Given the description of an element on the screen output the (x, y) to click on. 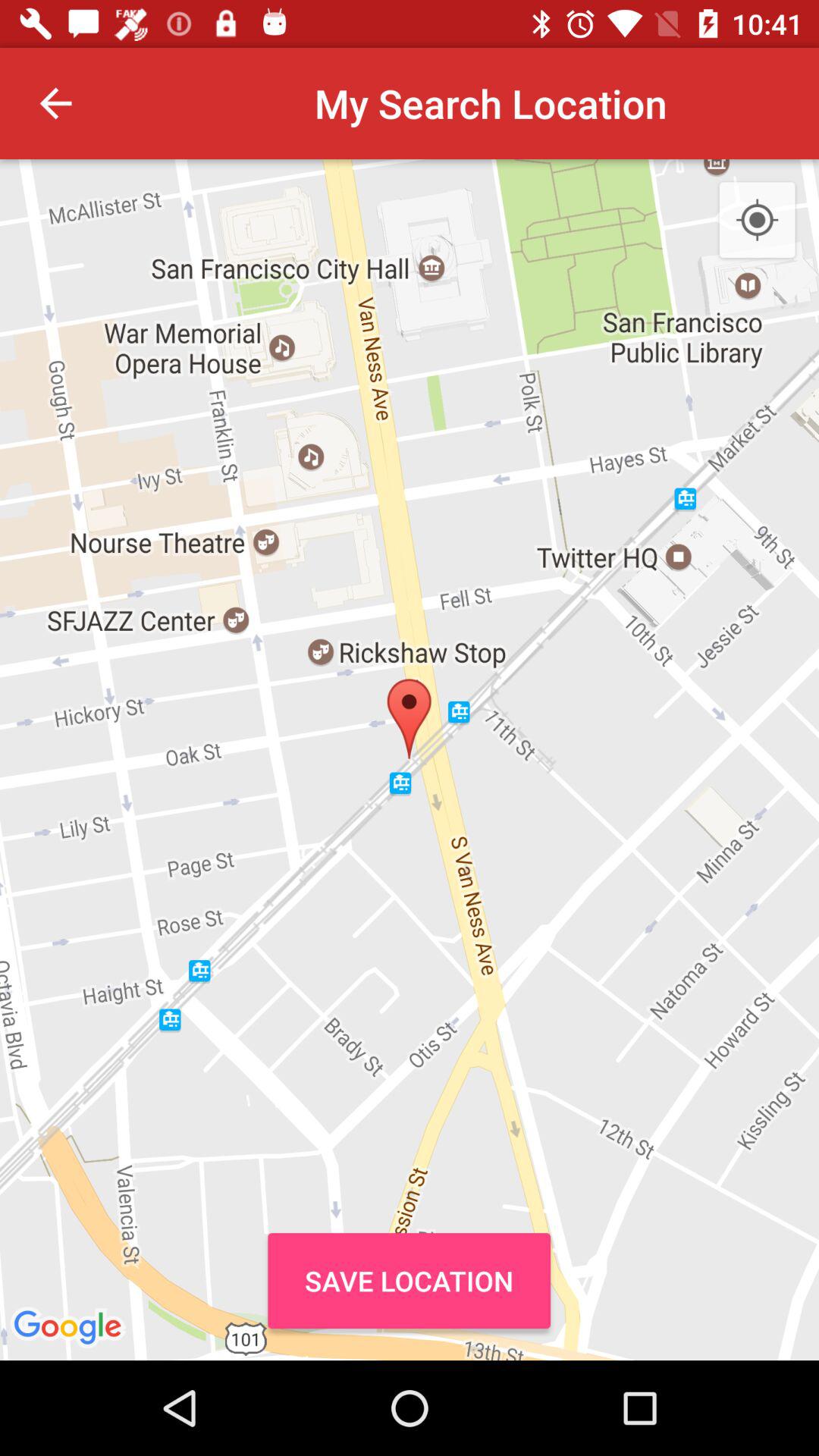
select icon below the my search location icon (408, 1280)
